Given the description of an element on the screen output the (x, y) to click on. 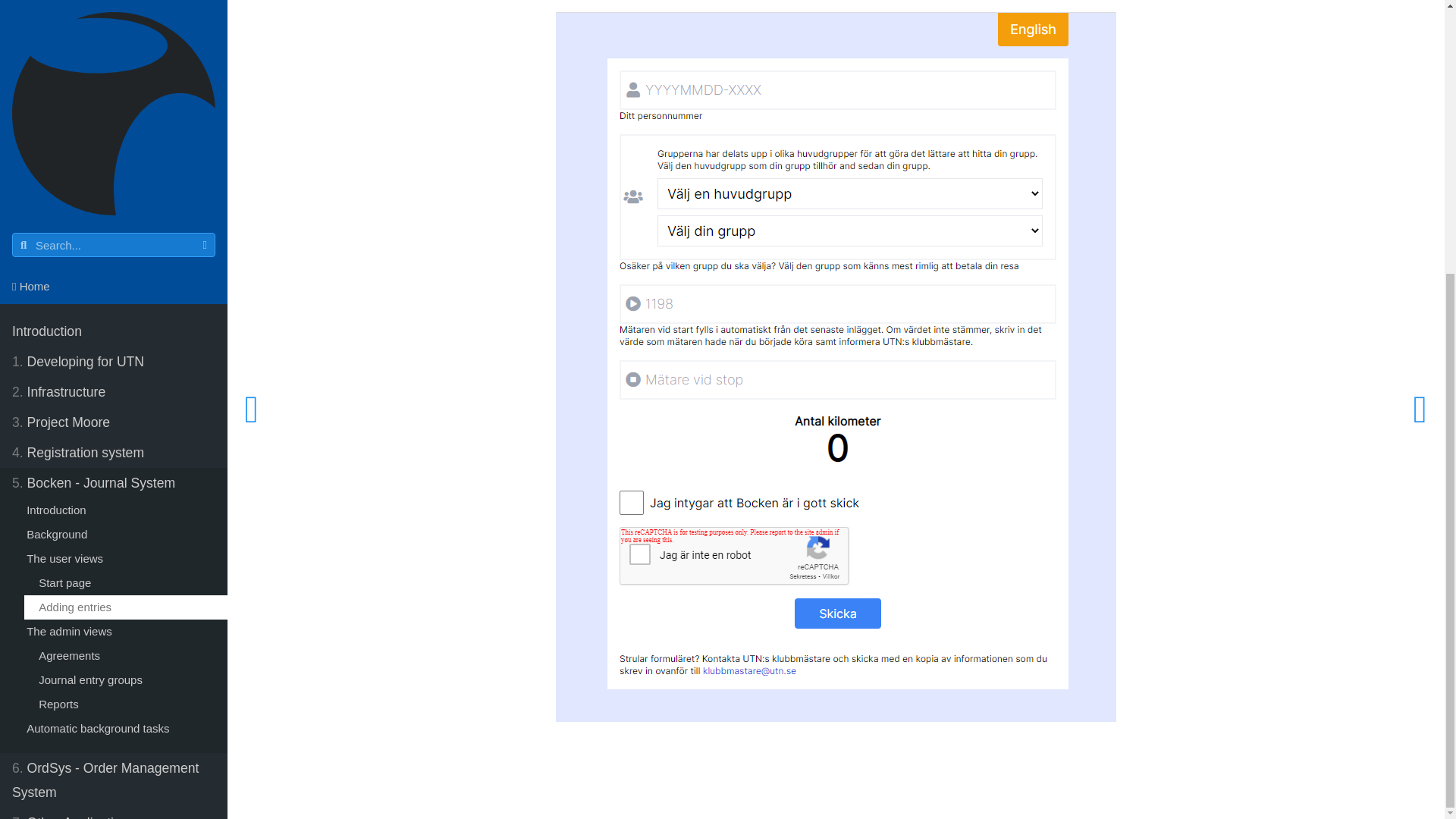
Project Moore (113, 19)
Introduction (119, 107)
2. Infrastructure (113, 2)
Background (119, 131)
5. Bocken - Journal System (113, 80)
The user views (119, 156)
4. Registration system (113, 50)
Infrastructure (113, 2)
3. Project Moore (113, 19)
